Given the description of an element on the screen output the (x, y) to click on. 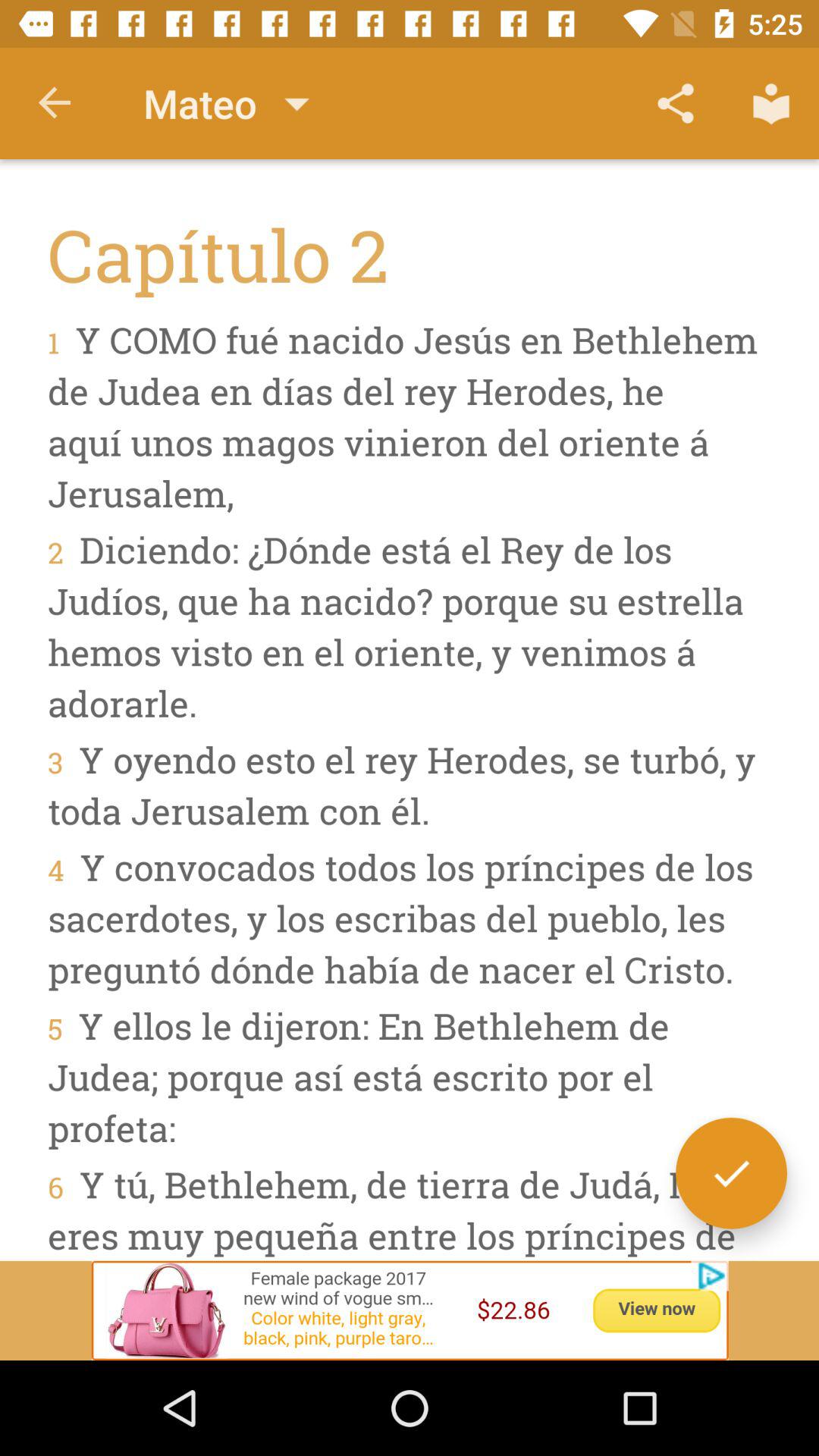
press item below 4 y convocados (731, 1173)
